Given the description of an element on the screen output the (x, y) to click on. 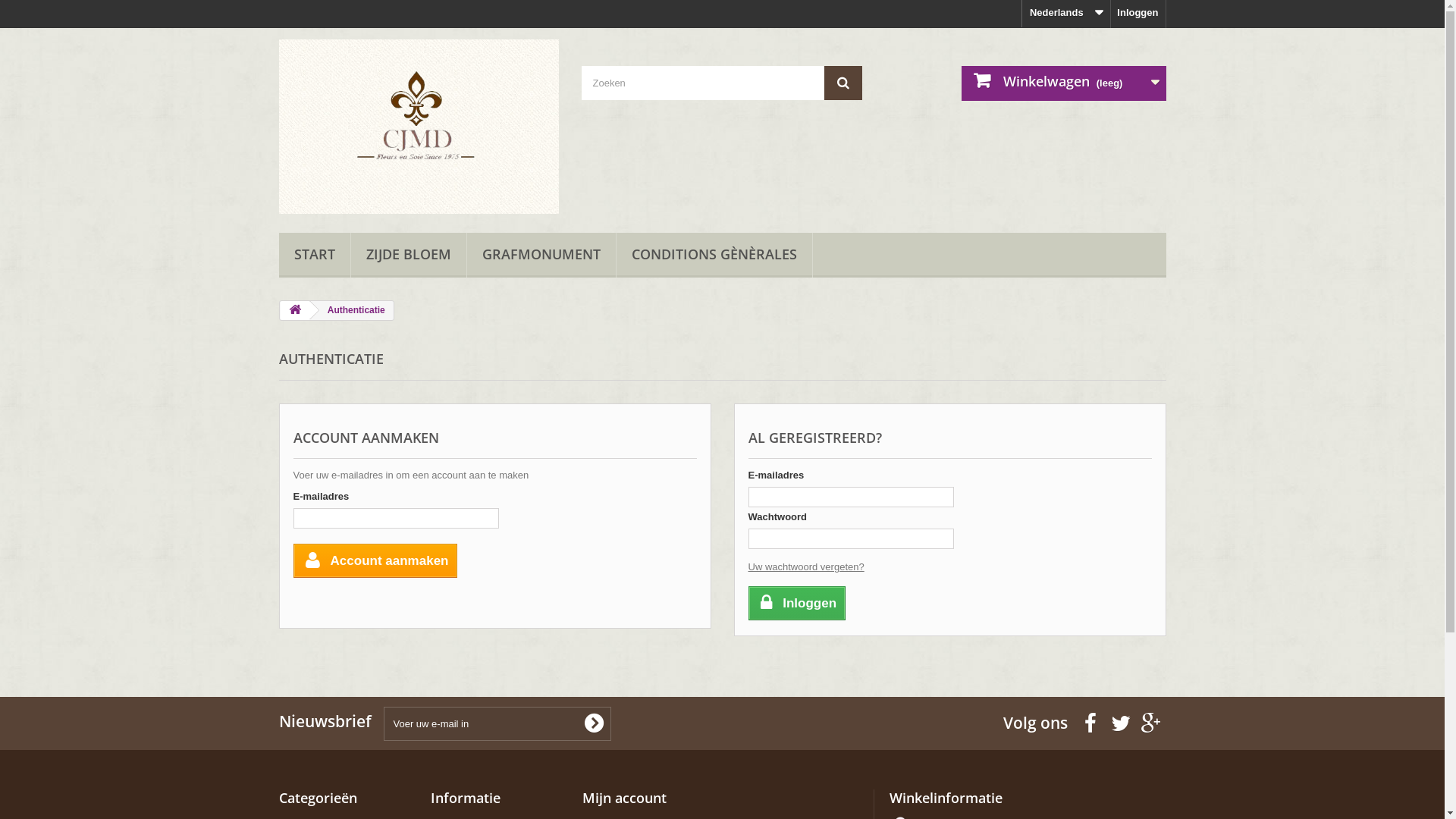
START Element type: text (314, 254)
Uw wachtwoord vergeten? Element type: text (805, 566)
GRAFMONUMENT Element type: text (541, 254)
CJMD Element type: hover (419, 126)
ZIJDE BLOEM Element type: text (407, 254)
Inloggen Element type: text (796, 603)
Mijn account Element type: text (624, 797)
Inloggen Element type: text (1137, 14)
Terug naar Home Element type: hover (294, 310)
Winkelwagen (leeg) Element type: text (1063, 82)
Account aanmaken Element type: text (374, 560)
